Given the description of an element on the screen output the (x, y) to click on. 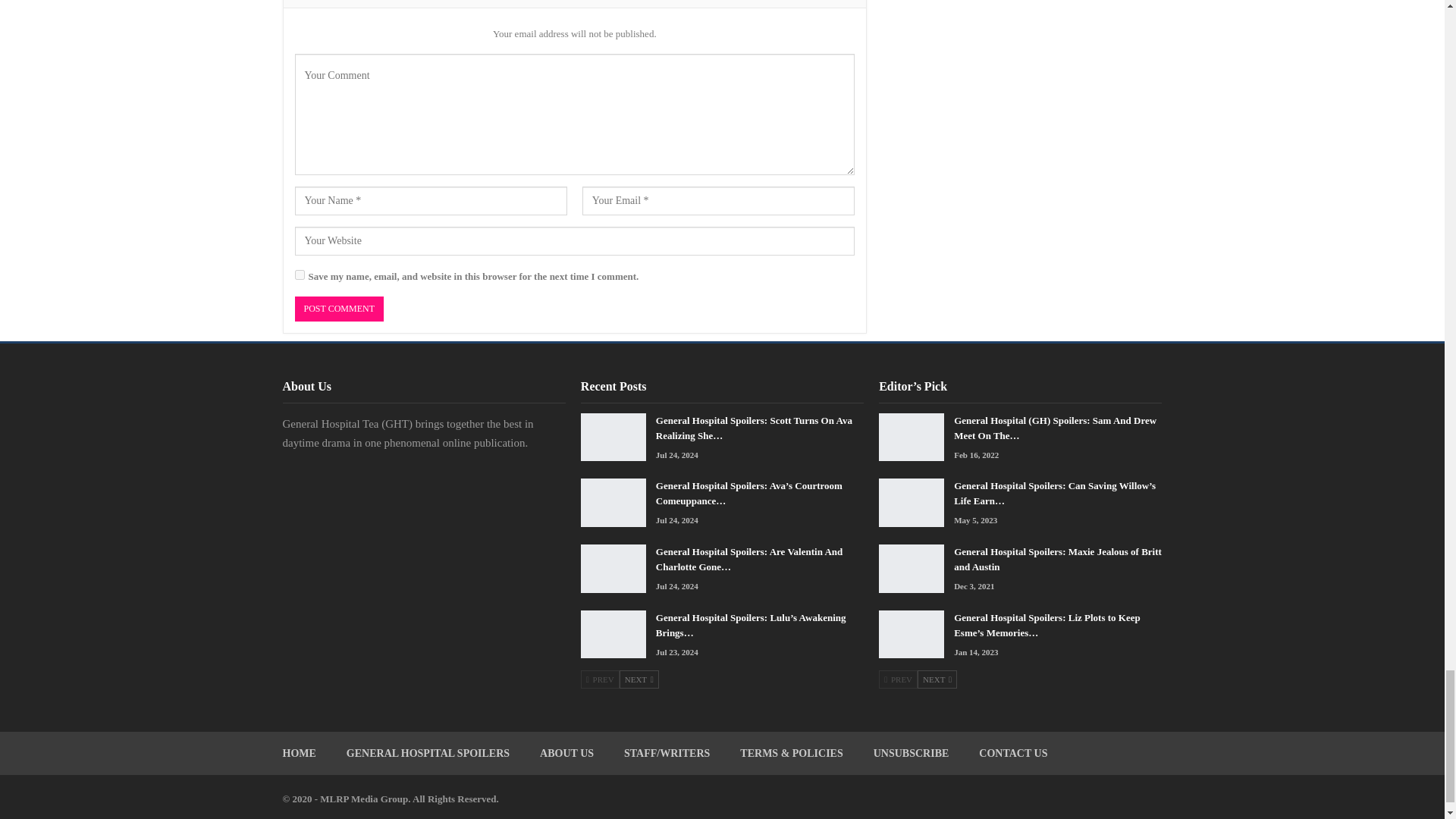
yes (299, 275)
Post Comment (338, 308)
